Given the description of an element on the screen output the (x, y) to click on. 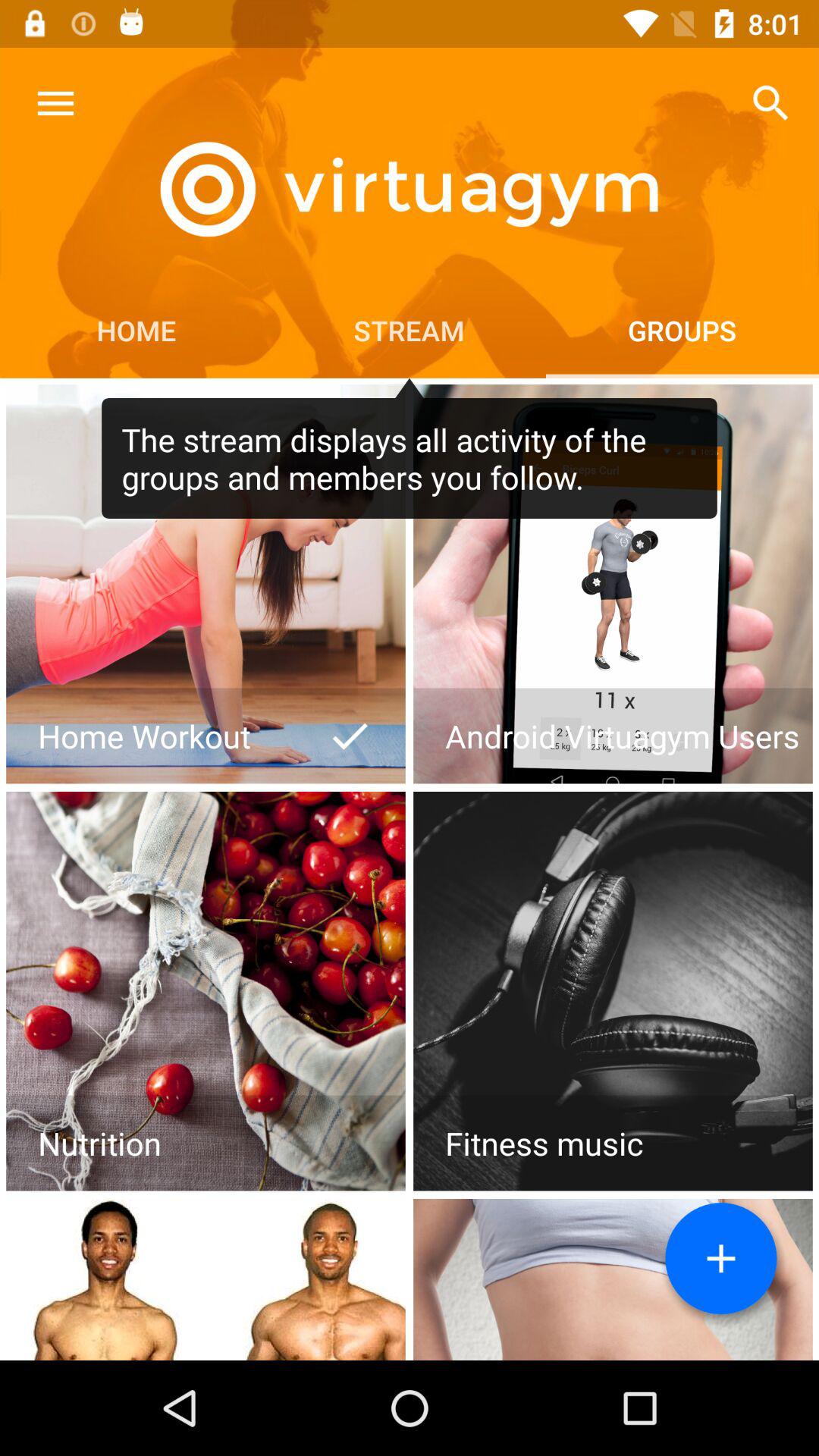
click the icon below fitness music icon (721, 1258)
